Given the description of an element on the screen output the (x, y) to click on. 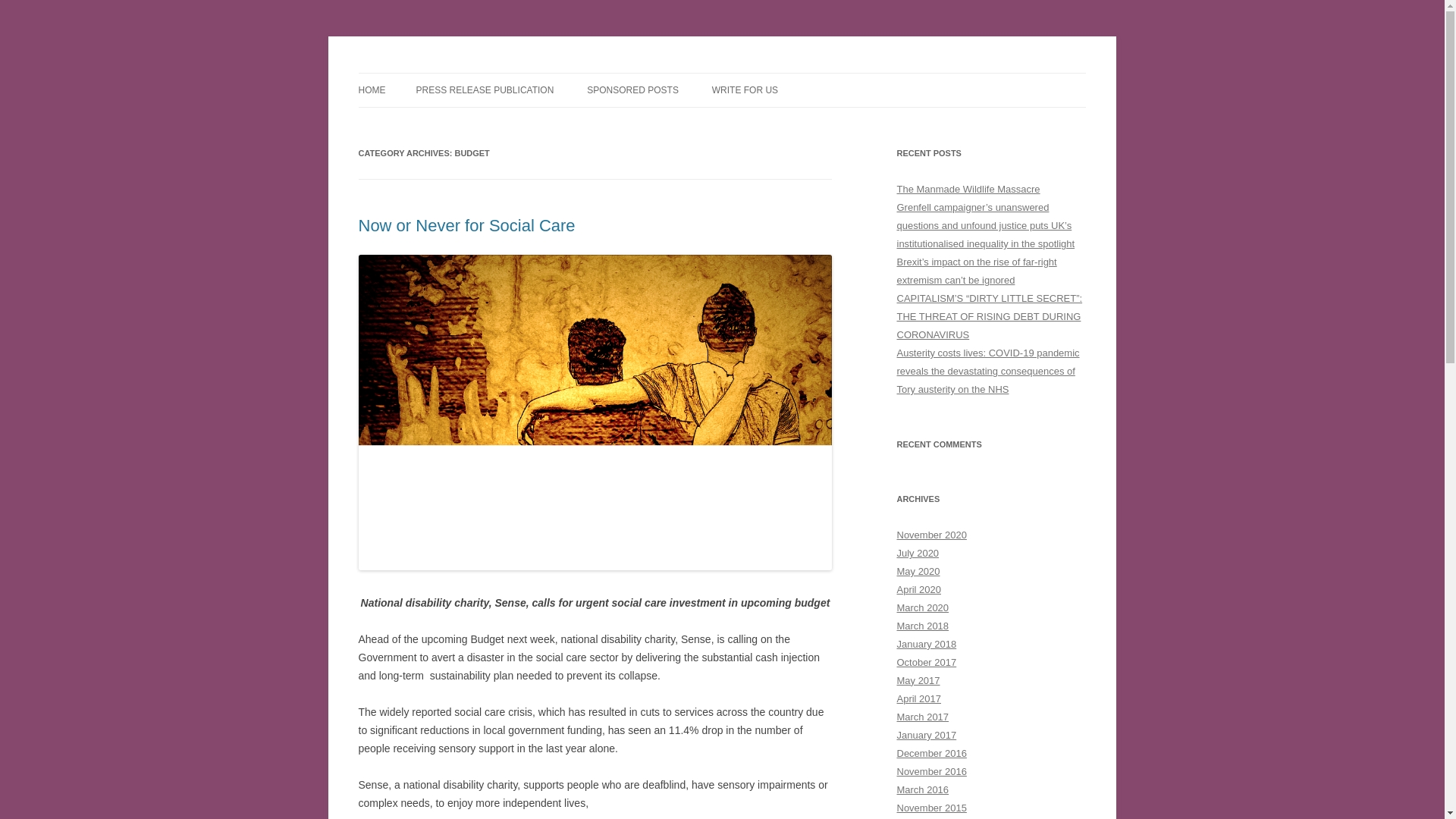
The Manmade Wildlife Massacre (967, 188)
WRITE FOR US (744, 90)
May 2020 (917, 571)
March 2017 (922, 716)
May 2017 (917, 680)
March 2018 (922, 625)
January 2018 (926, 644)
Now or Never for Social Care (466, 225)
pwcopy.com (417, 72)
